Given the description of an element on the screen output the (x, y) to click on. 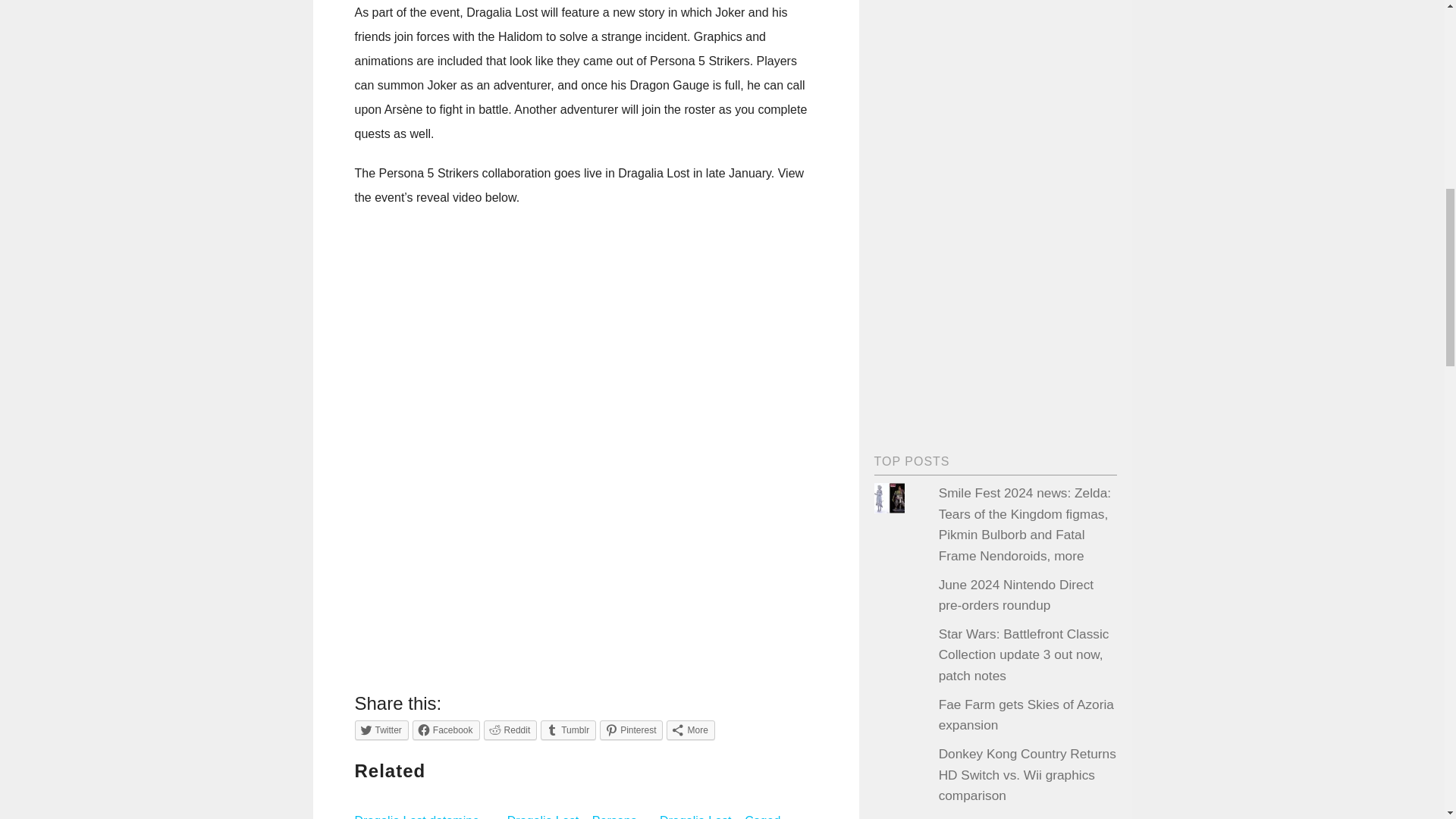
Click to share on Pinterest (630, 730)
Twitter (382, 730)
Tumblr (567, 730)
Click to share on Tumblr (567, 730)
Reddit (510, 730)
Click to share on Twitter (382, 730)
Click to share on Facebook (446, 730)
Facebook (446, 730)
Pinterest (630, 730)
More (690, 730)
Click to share on Reddit (510, 730)
June 2024 Nintendo Direct pre-orders roundup (1016, 595)
